Given the description of an element on the screen output the (x, y) to click on. 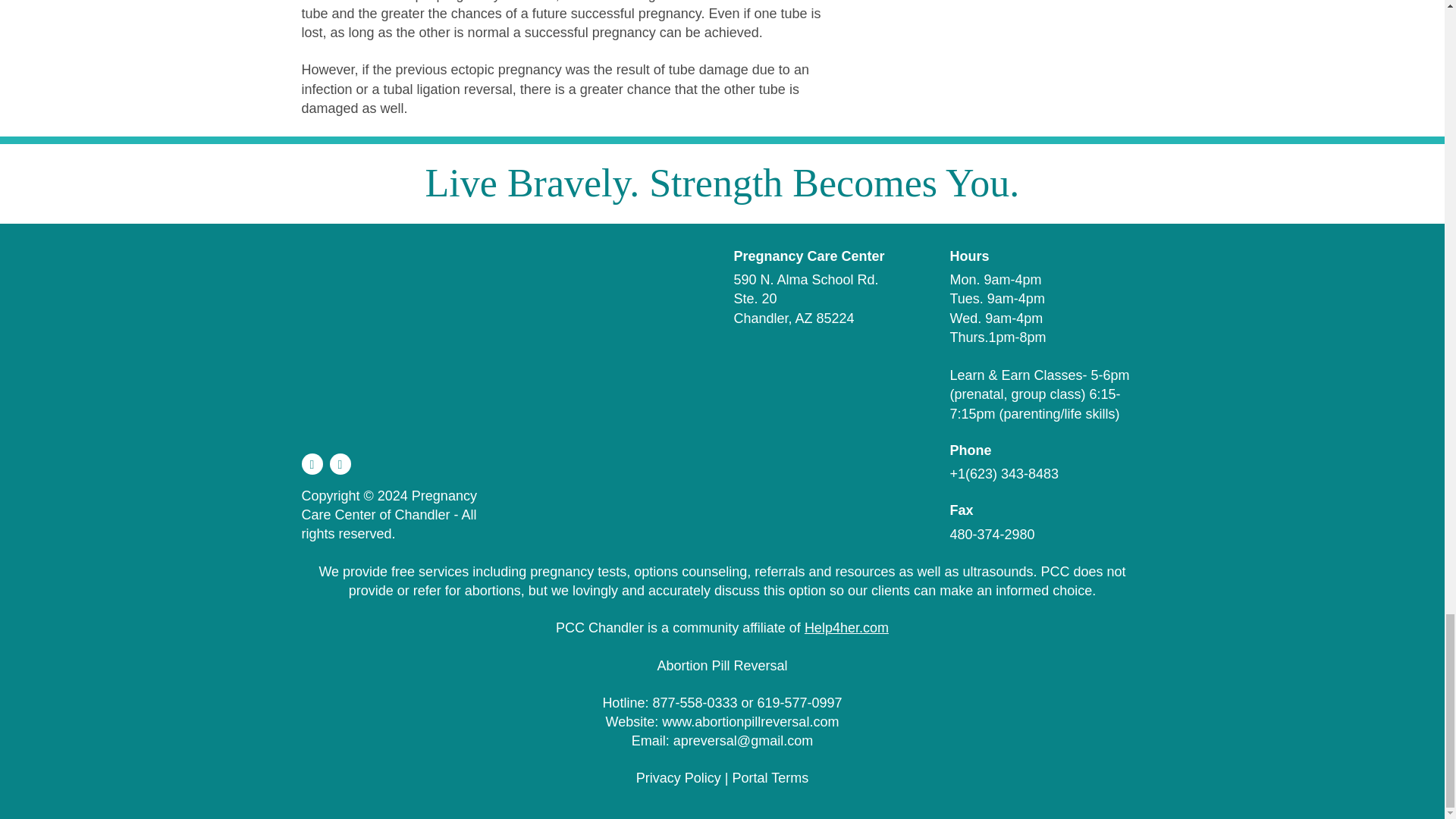
Portal Terms (770, 777)
480-374-2980 (991, 534)
www.abortionpillreversal.com (750, 721)
Help4her.com (846, 627)
